Given the description of an element on the screen output the (x, y) to click on. 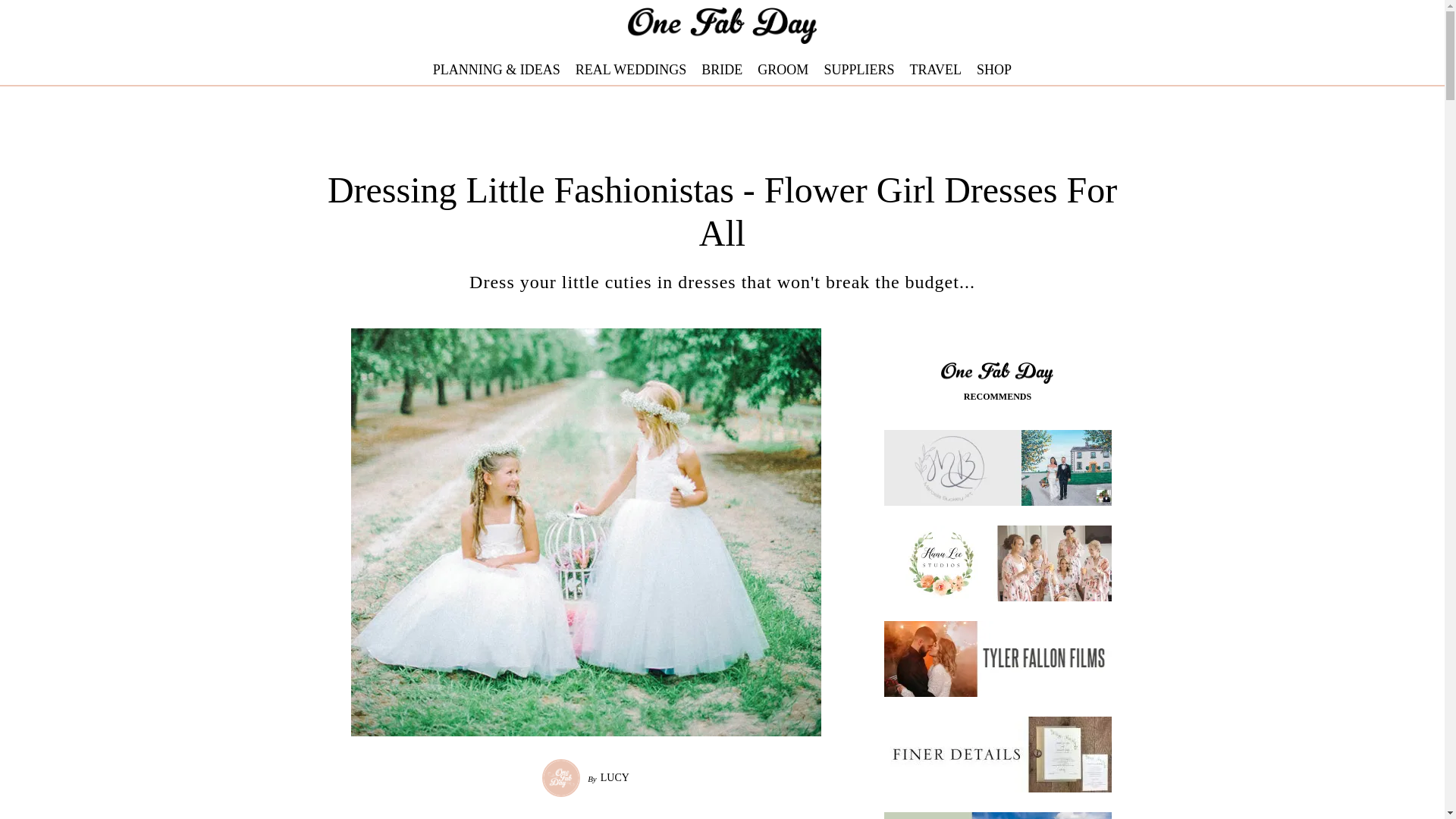
REAL WEDDINGS (630, 70)
